Given the description of an element on the screen output the (x, y) to click on. 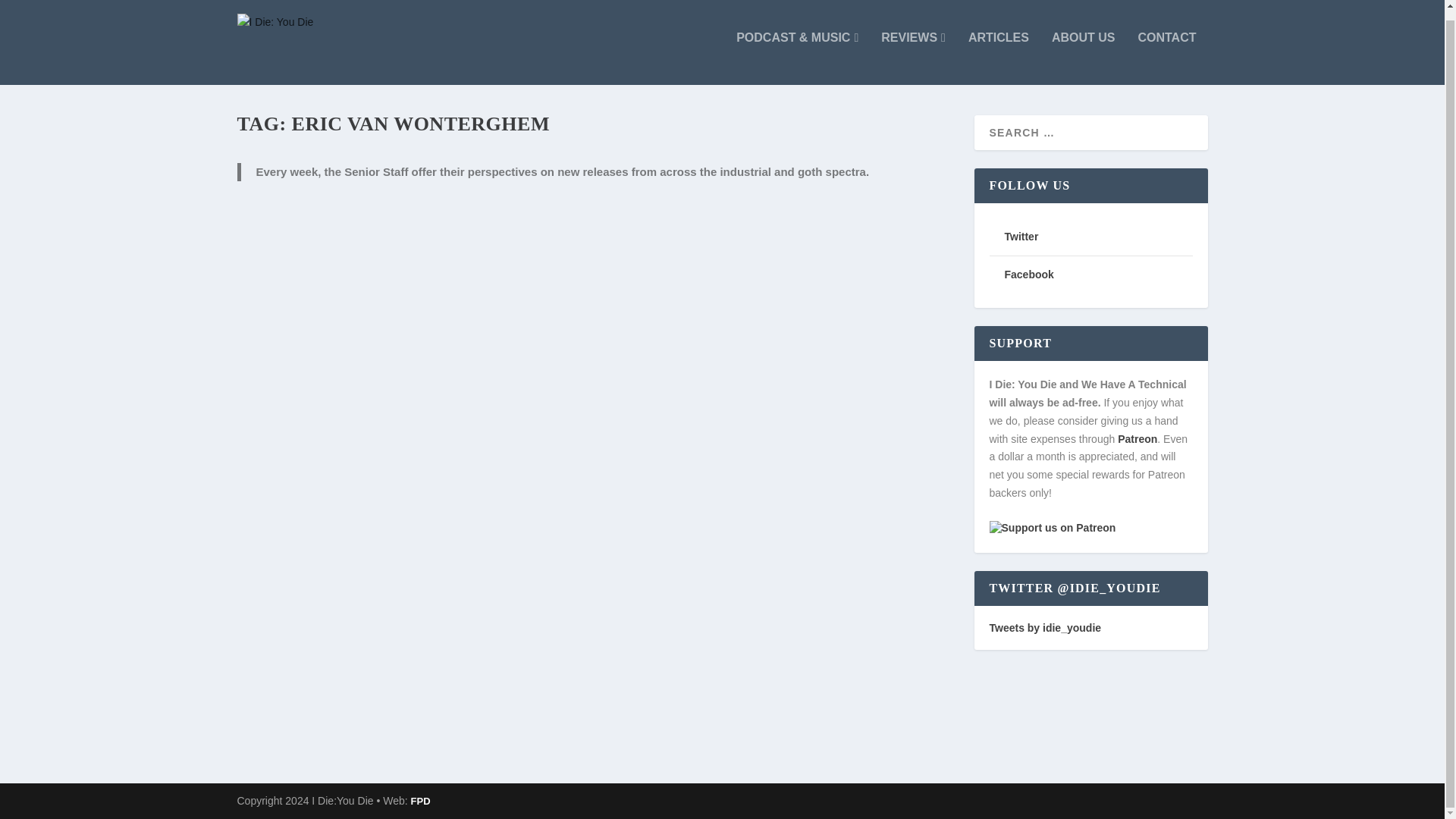
REVIEWS (912, 58)
ABOUT US (1083, 58)
CONTACT (1166, 58)
ARTICLES (998, 58)
Search (31, 9)
Facebook (1028, 274)
FPD (420, 800)
Twitter (1021, 236)
Patreon (1137, 439)
